Given the description of an element on the screen output the (x, y) to click on. 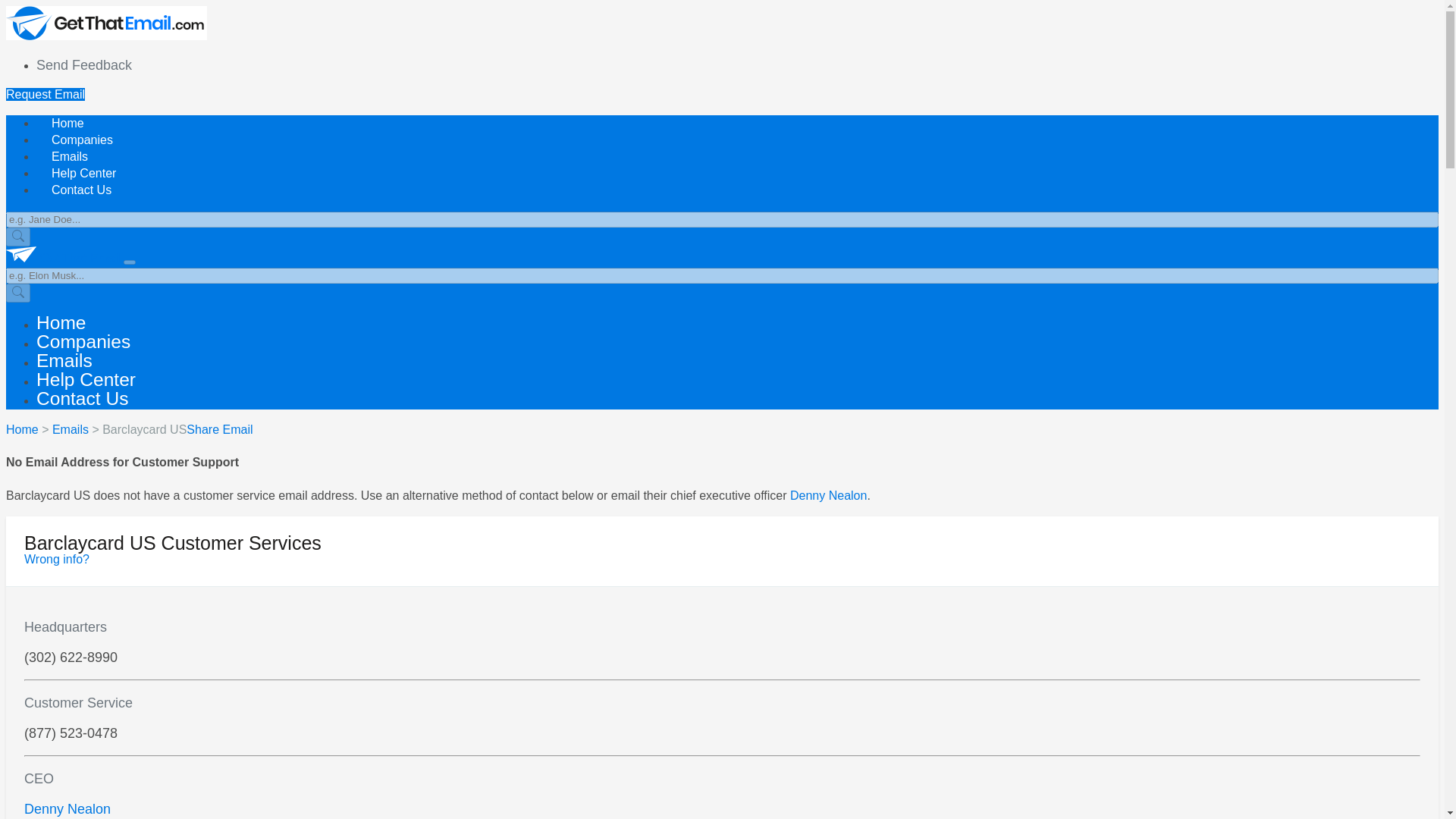
Wrong info? (56, 558)
Emails (69, 156)
Contact Us (82, 398)
Emails (70, 429)
Home (67, 122)
Help Center (83, 172)
Share (202, 429)
Denny Nealon (828, 495)
Companies (82, 139)
Send Feedback (84, 64)
